Given the description of an element on the screen output the (x, y) to click on. 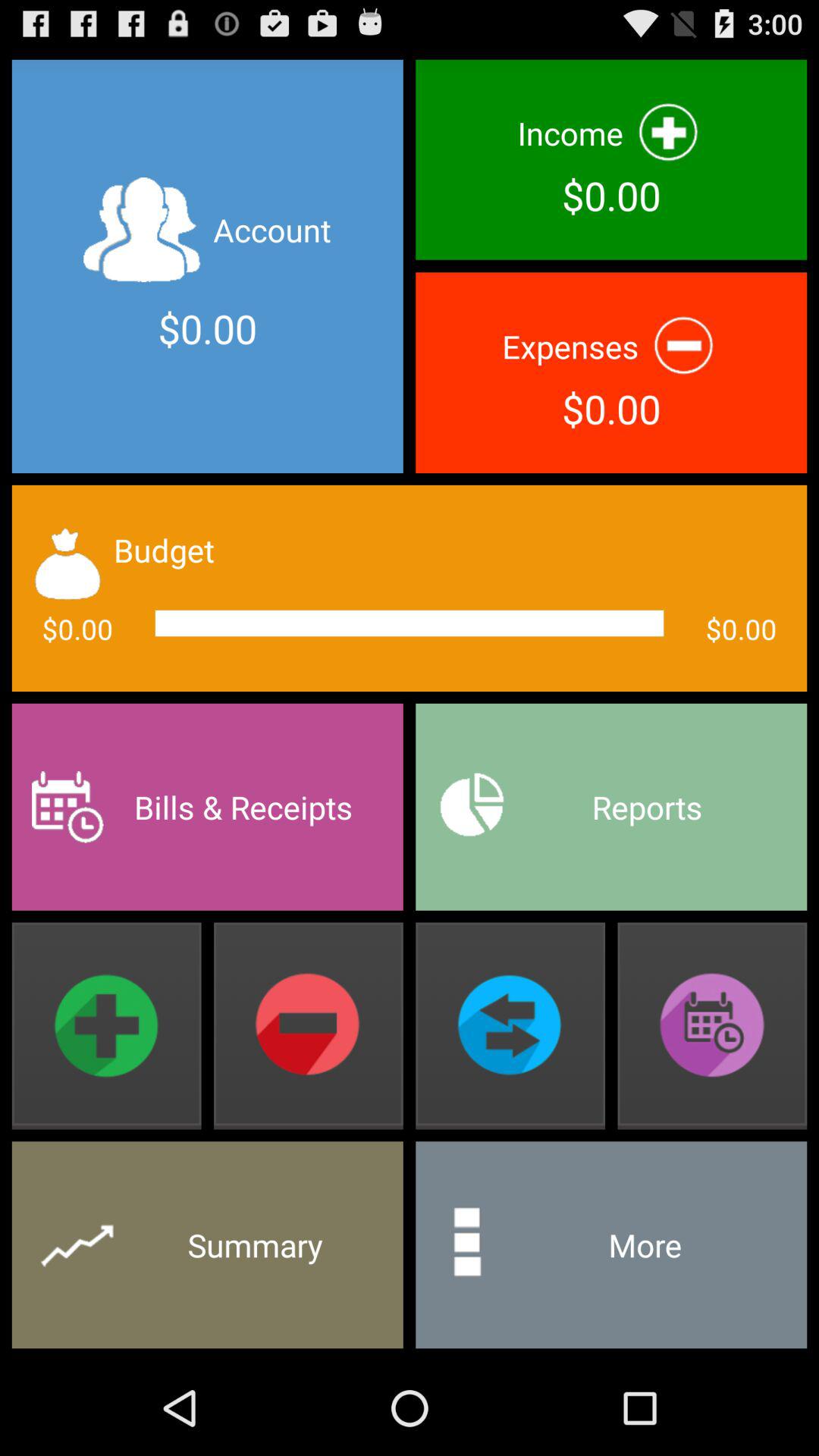
select the bills & receipts item (207, 806)
